Given the description of an element on the screen output the (x, y) to click on. 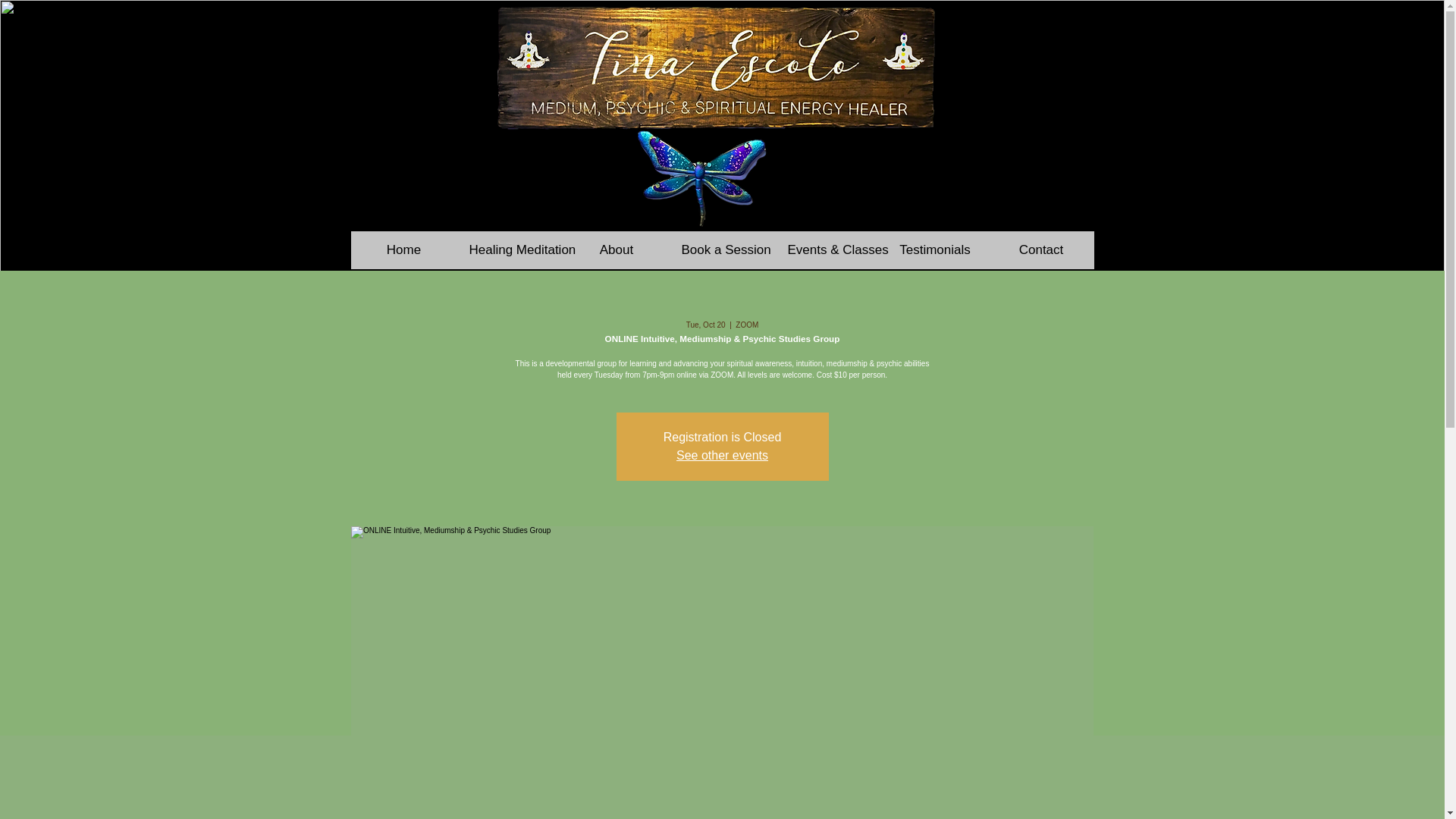
Book a Session (721, 249)
Contact (1040, 249)
Home (403, 249)
About (615, 249)
Testimonials (933, 249)
See other events (722, 454)
Healing Meditation (509, 249)
